Given the description of an element on the screen output the (x, y) to click on. 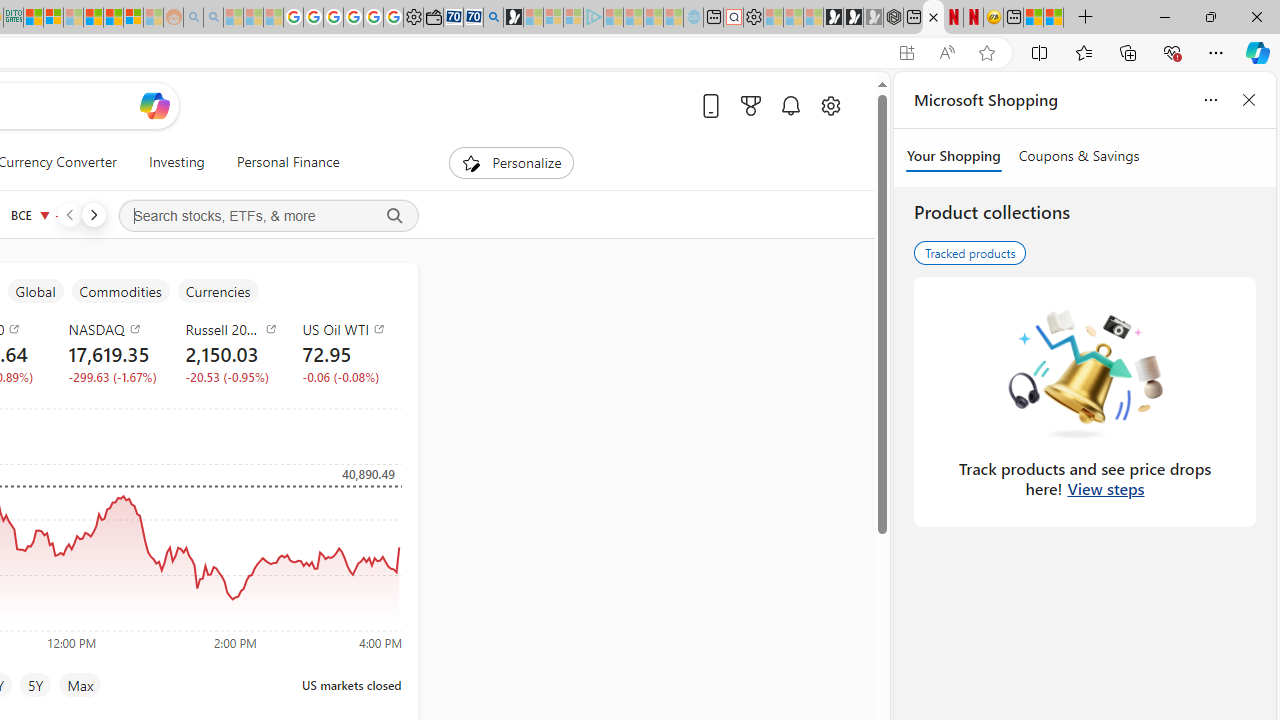
Wallet (432, 17)
Previous (69, 214)
item5 (217, 291)
US Oil WTI (348, 328)
Home | Sky Blue Bikes - Sky Blue Bikes - Sleeping (692, 17)
